Given the description of an element on the screen output the (x, y) to click on. 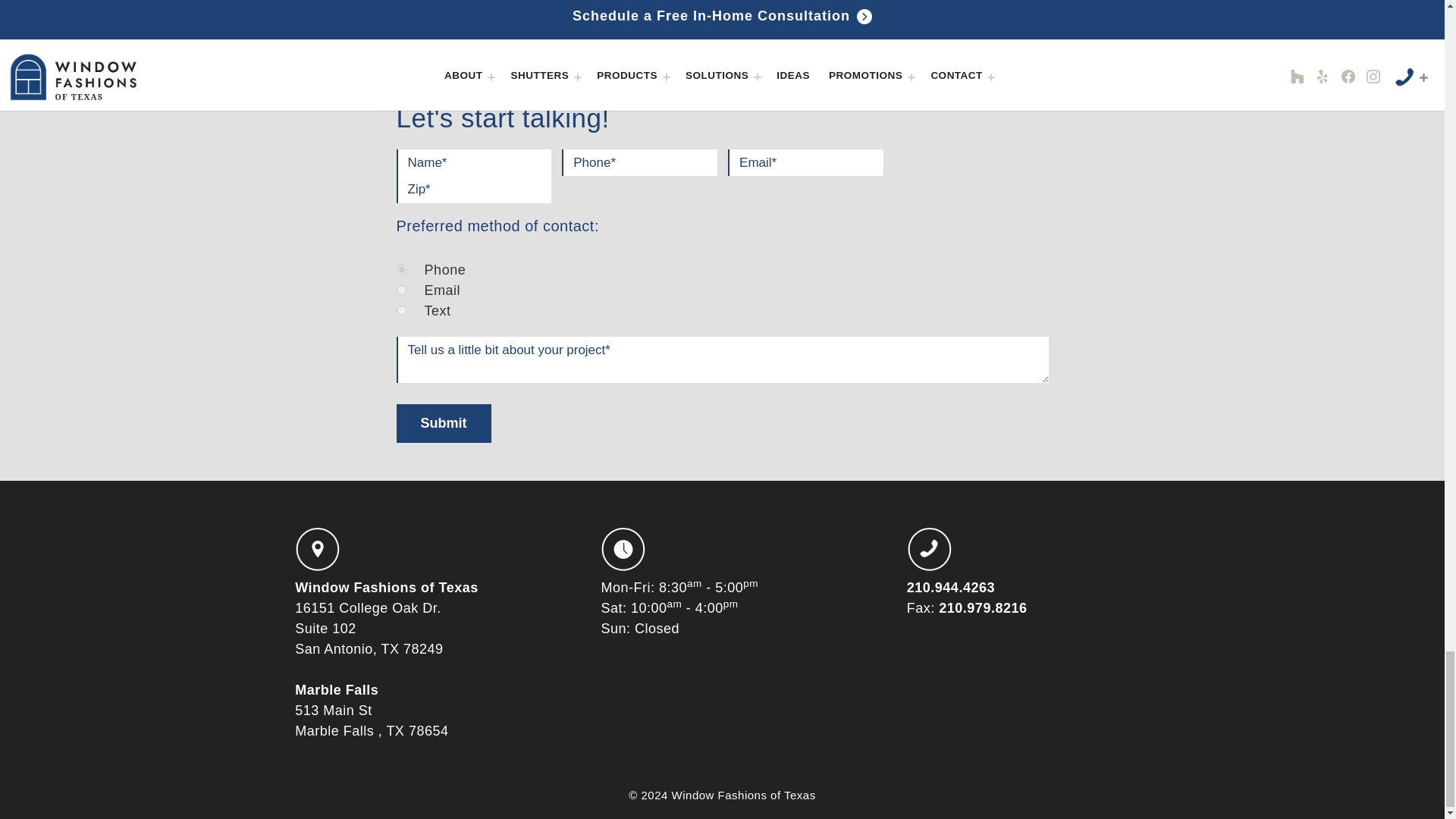
Phone (401, 269)
Submit (443, 423)
Text (401, 310)
Email (401, 289)
